Given the description of an element on the screen output the (x, y) to click on. 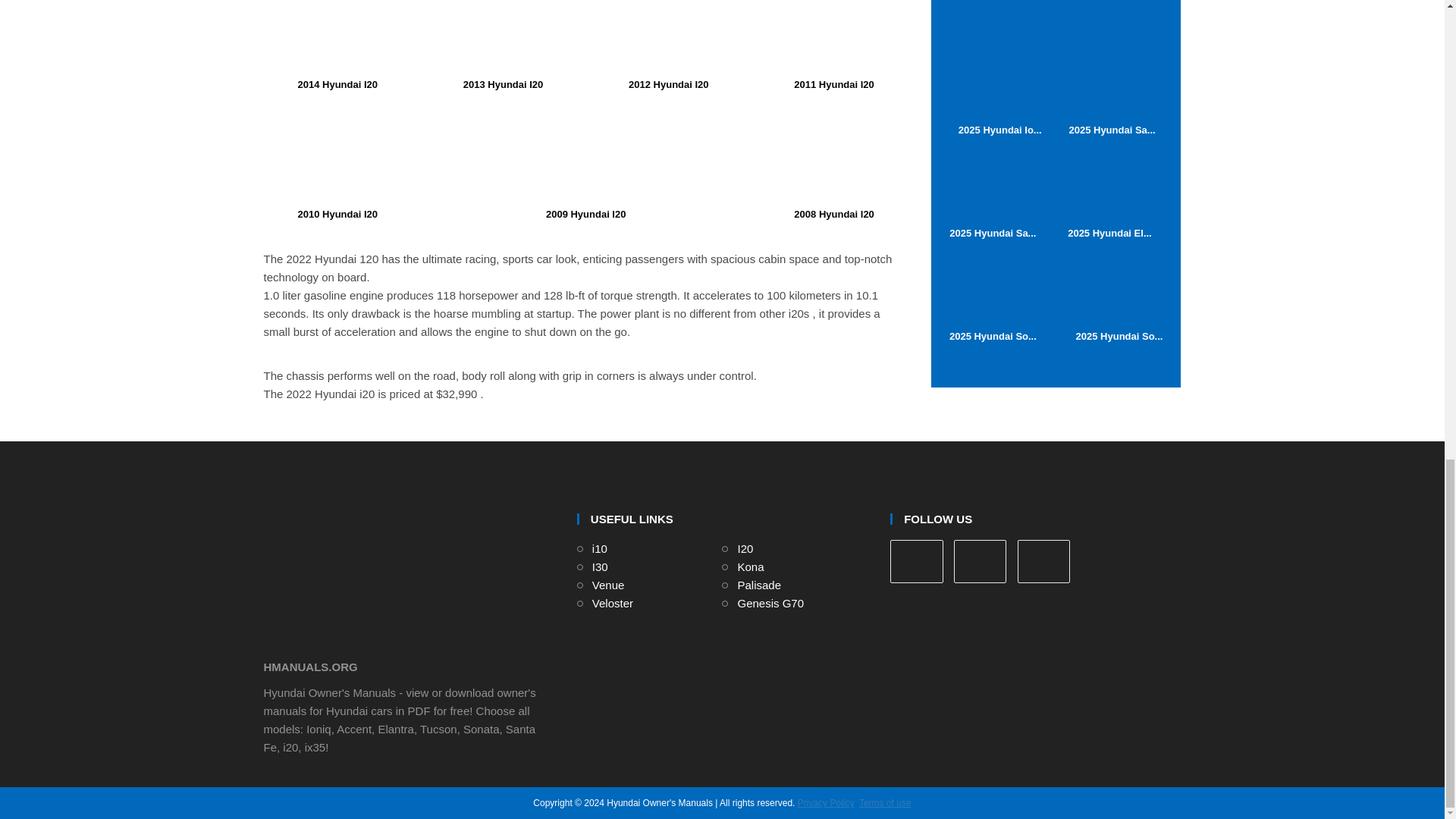
2011 Hyundai I20 (834, 45)
2008 Hyundai I20 (834, 161)
2013 Hyundai I20 (503, 37)
2013 Hyundai I20 (503, 45)
2025 Hyundai El... (1109, 194)
i10 (599, 548)
2025 Hyundai Sa... (992, 194)
2025 Hyundai Sa... (1111, 90)
I20 (744, 548)
2025 Hyundai So... (1118, 297)
